Given the description of an element on the screen output the (x, y) to click on. 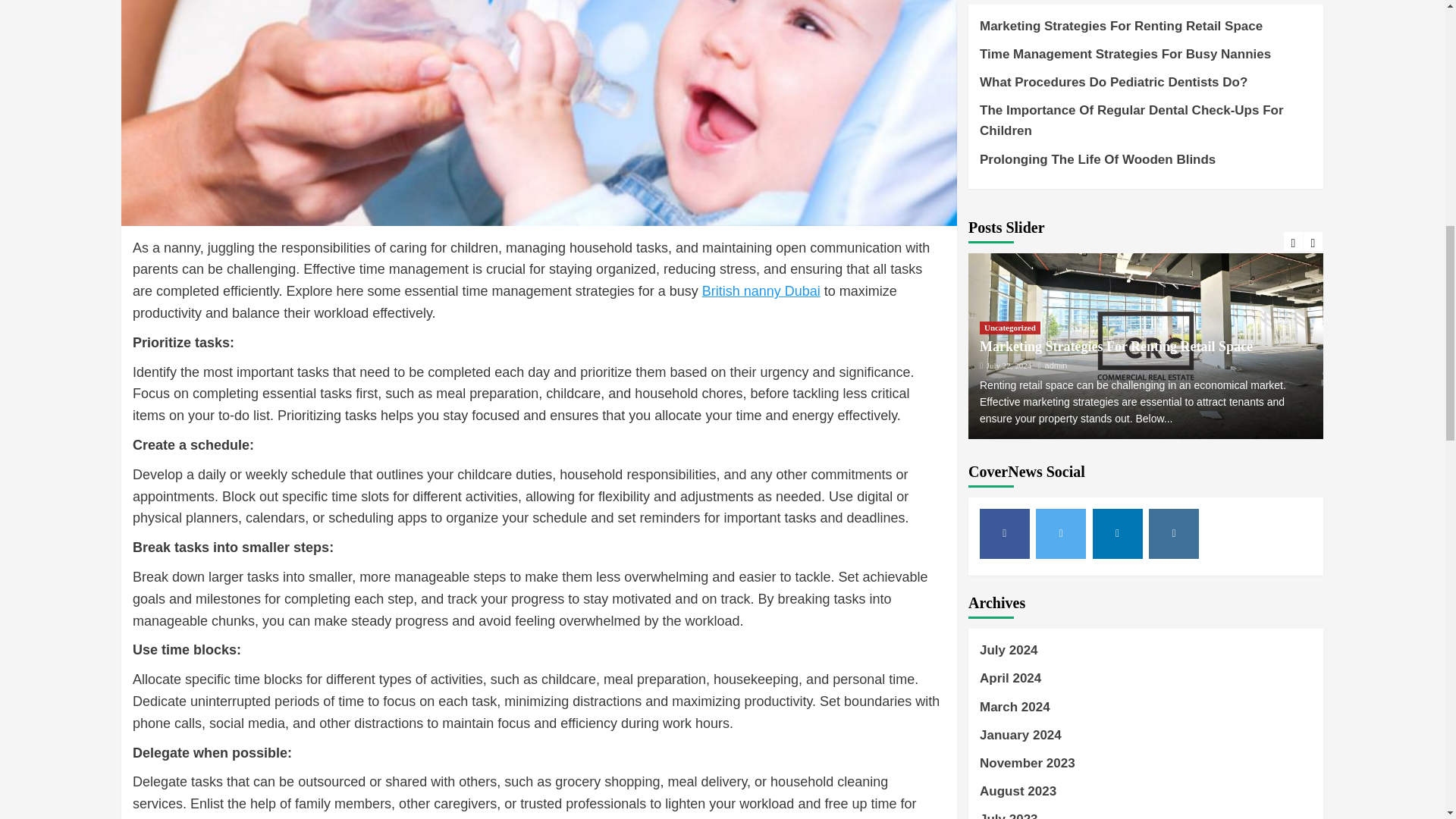
British nanny Dubai (761, 290)
